Given the description of an element on the screen output the (x, y) to click on. 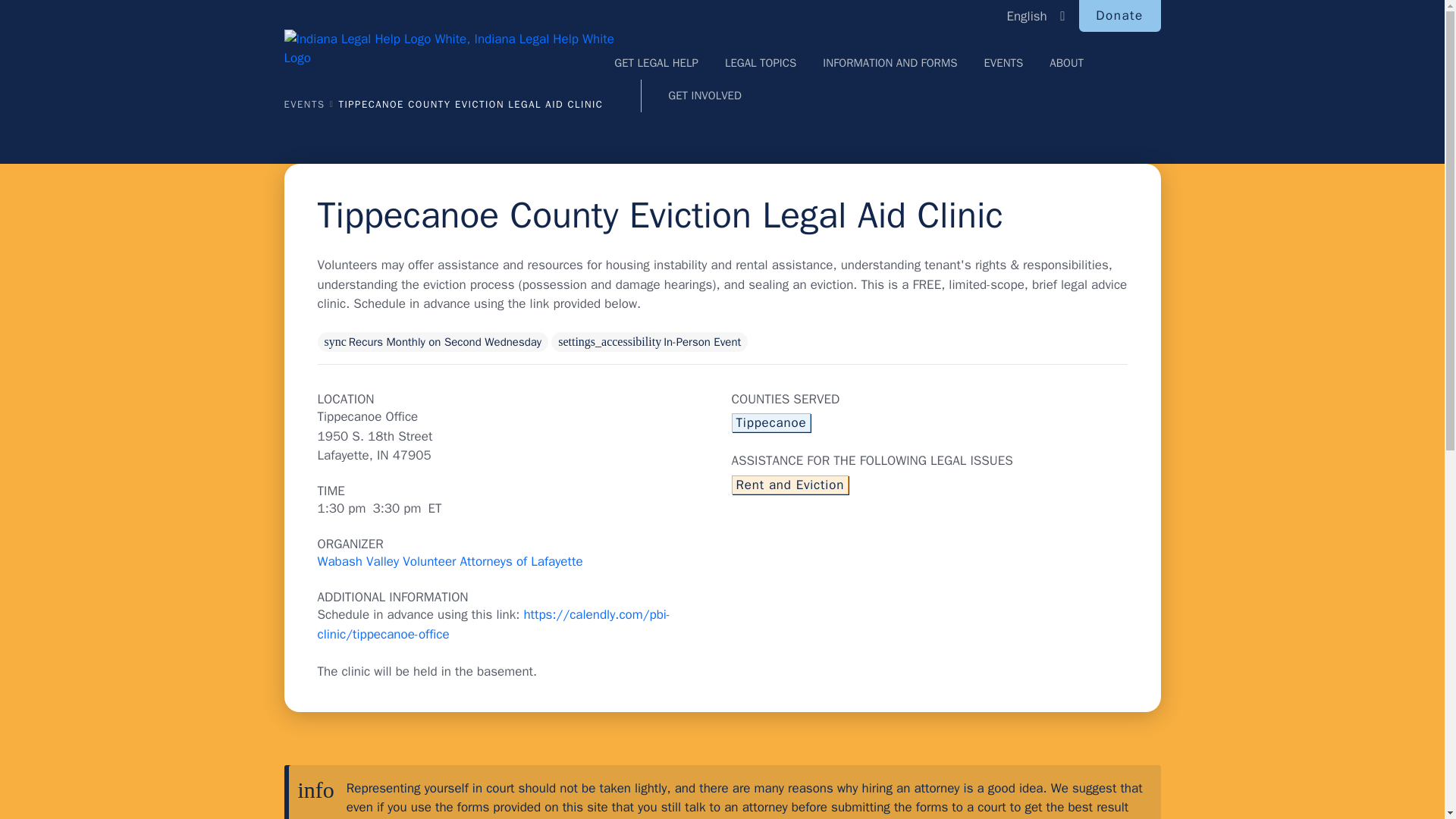
GET LEGAL HELP (656, 62)
Tippecanoe (770, 422)
LEGAL TOPICS (760, 62)
INFORMATION AND FORMS (889, 62)
English (1034, 15)
Donate (1119, 15)
GET INVOLVED (704, 95)
EVENTS (310, 104)
EVENTS (1003, 62)
ABOUT (1066, 62)
Wabash Valley Volunteer Attorneys of Lafayette (449, 561)
Rent and Eviction (789, 484)
